Given the description of an element on the screen output the (x, y) to click on. 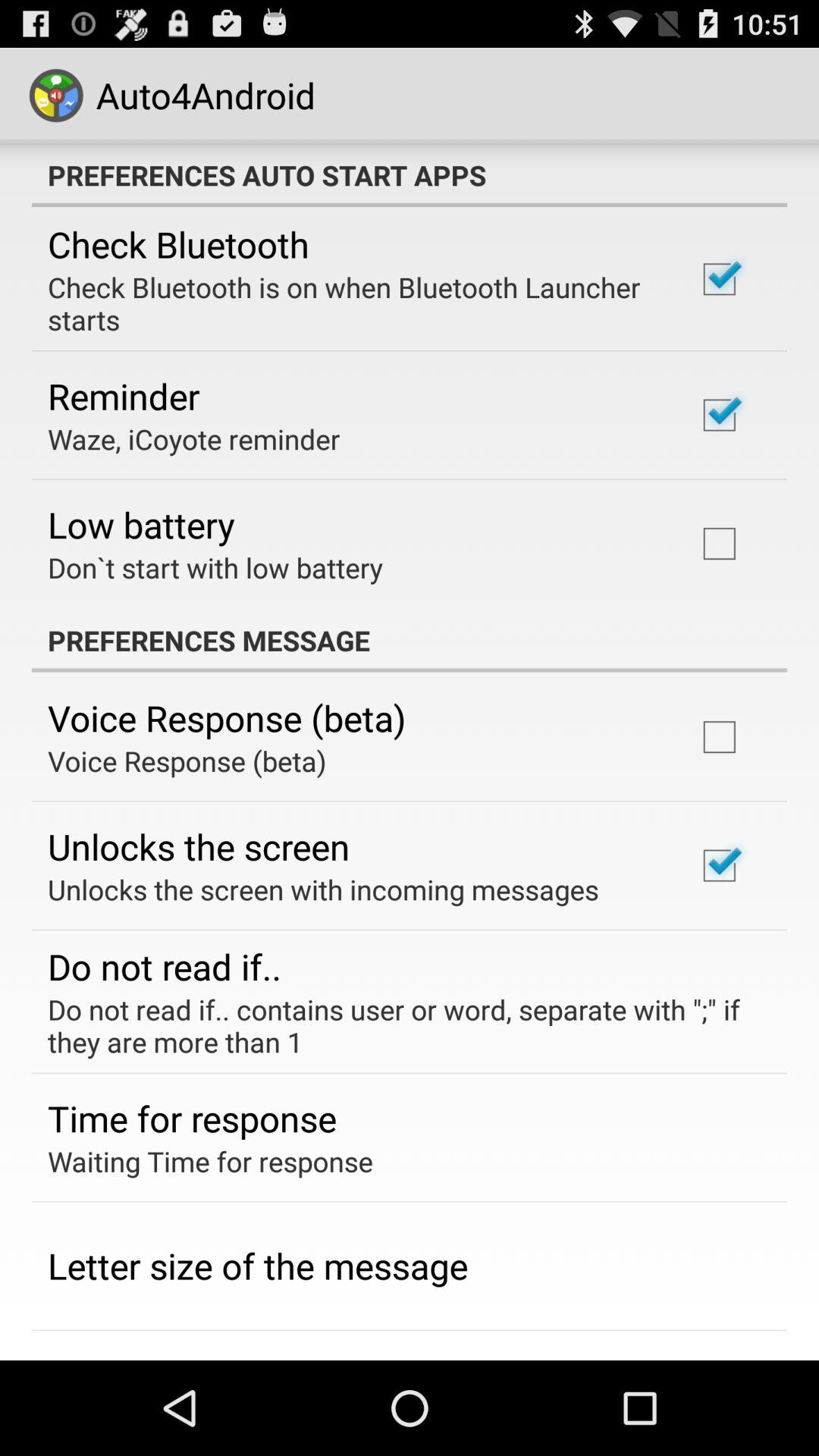
jump to waze, icoyote reminder item (193, 438)
